Given the description of an element on the screen output the (x, y) to click on. 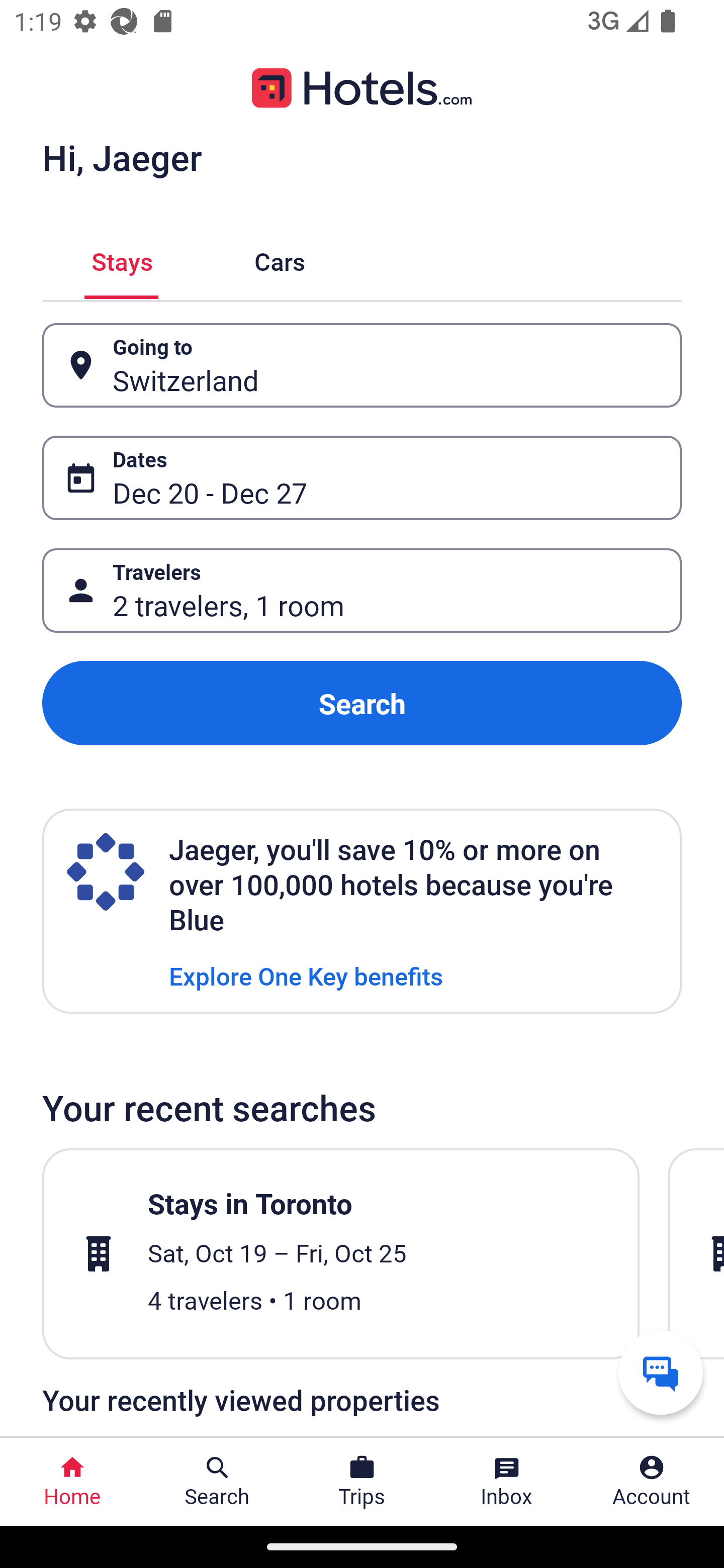
Hi, Jaeger (121, 156)
Cars (279, 259)
Going to Button Switzerland (361, 365)
Dates Button Dec 20 - Dec 27 (361, 477)
Travelers Button 2 travelers, 1 room (361, 590)
Search (361, 702)
Get help from a virtual agent (660, 1371)
Search Search Button (216, 1481)
Trips Trips Button (361, 1481)
Inbox Inbox Button (506, 1481)
Account Profile. Button (651, 1481)
